Given the description of an element on the screen output the (x, y) to click on. 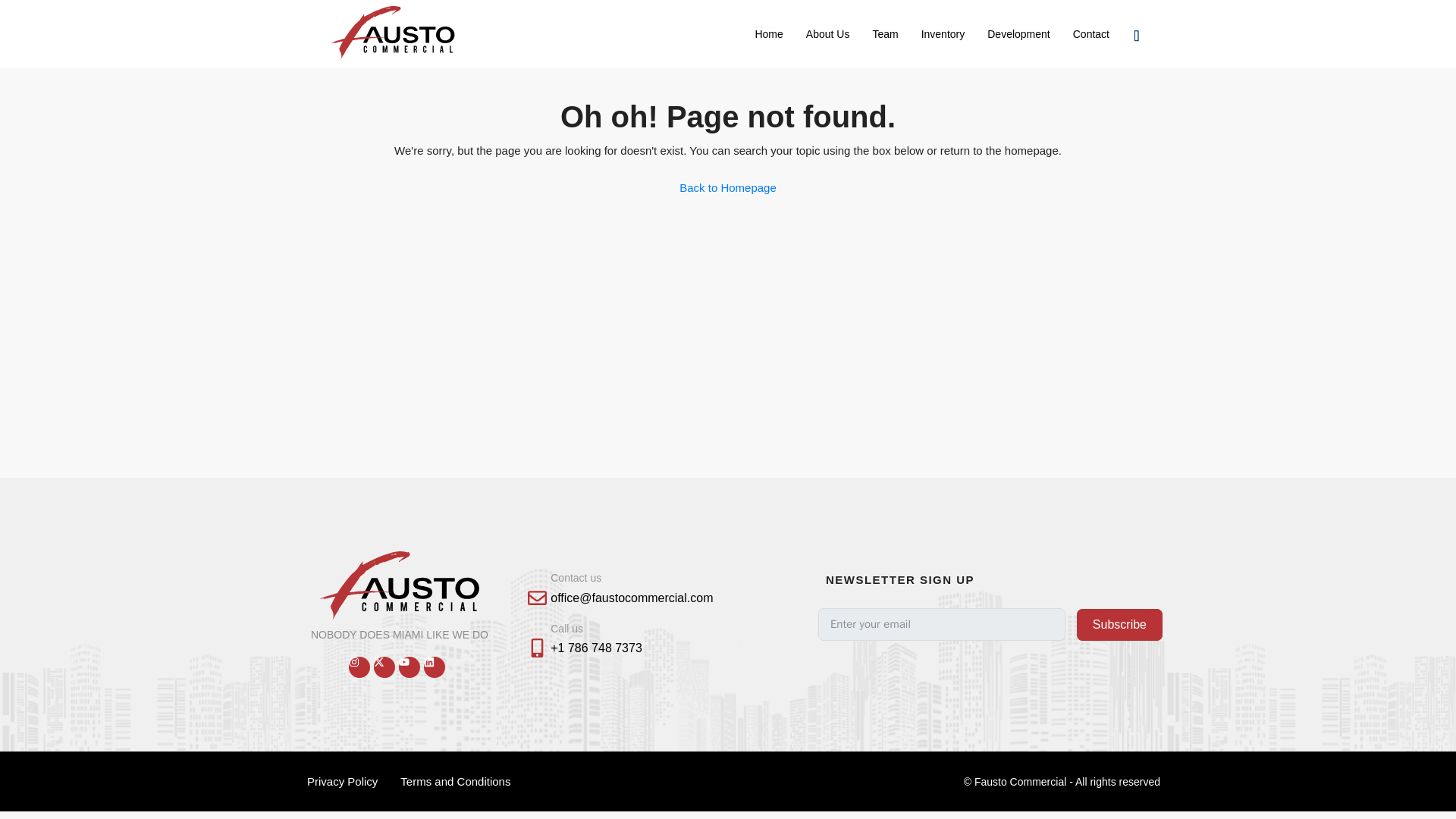
Privacy Policy (341, 780)
Back to Homepage (727, 187)
Terms and Conditions (454, 780)
Subscribe (1119, 624)
Inventory (943, 33)
About Us (827, 33)
faustonet logo (400, 585)
Development (1018, 33)
